Given the description of an element on the screen output the (x, y) to click on. 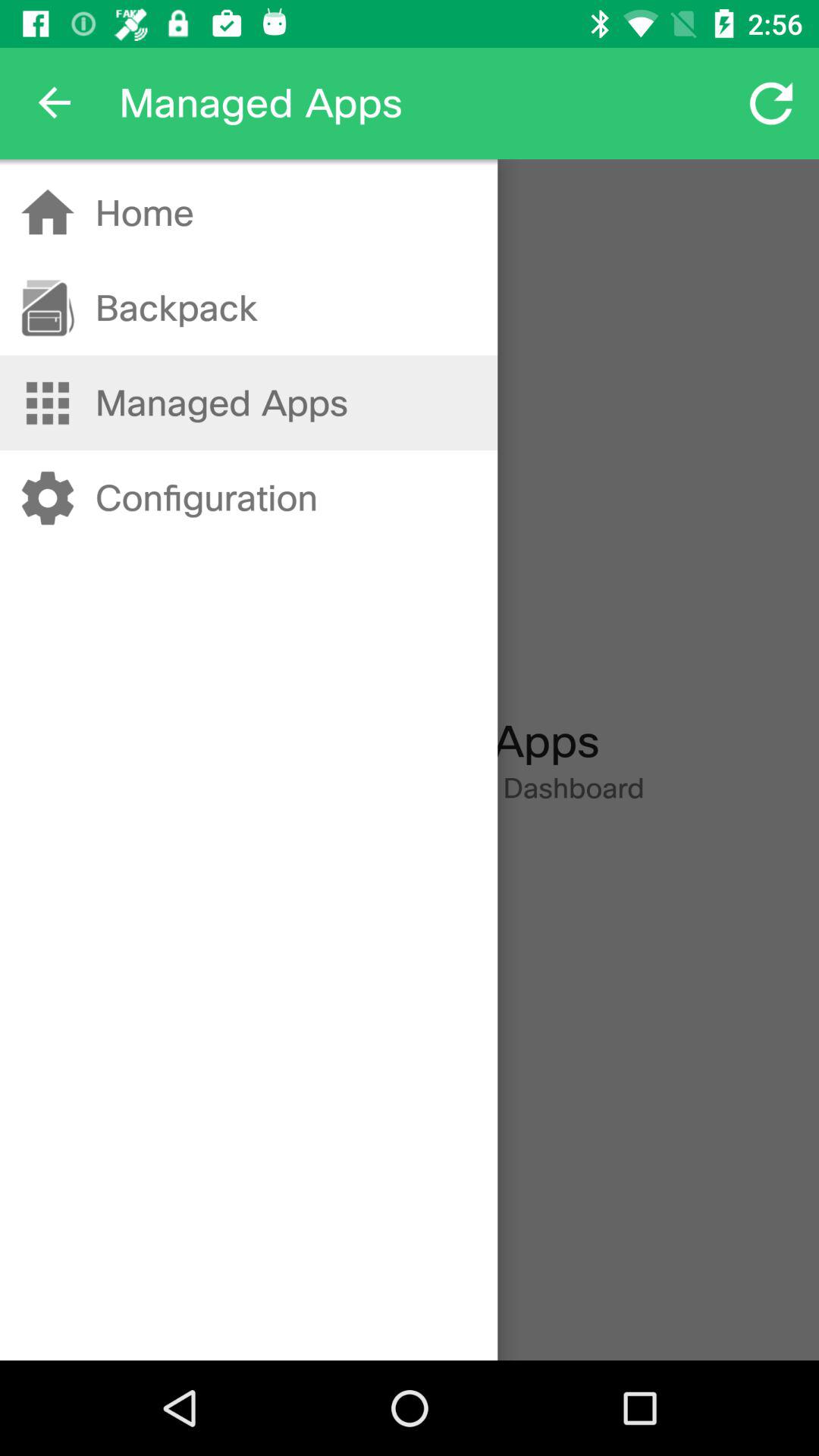
launch icon to the left of the managed apps (55, 103)
